Given the description of an element on the screen output the (x, y) to click on. 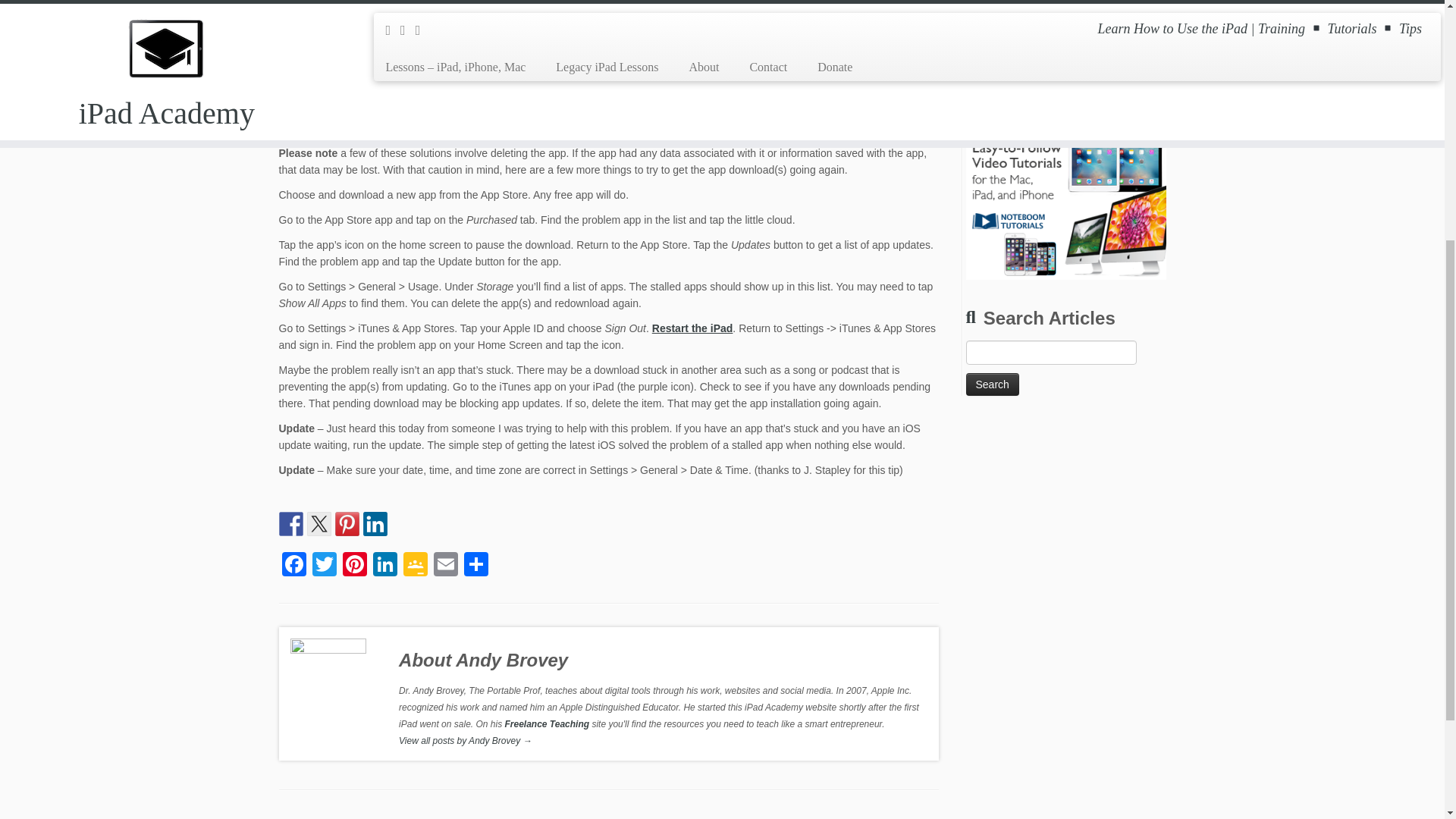
Email (445, 565)
Facebook (293, 565)
30 Lessons - Pick Your Price (1037, 43)
Google Classroom (415, 565)
Share on Twitter (317, 523)
Link to iPad Academy article (692, 328)
Pinterest (354, 565)
Restart the iPad (692, 328)
Twitter (323, 565)
Share on Linkedin (374, 523)
Pin it with Pinterest (346, 523)
Share on Facebook (290, 523)
Freelance Teaching (548, 724)
Search (992, 384)
